Given the description of an element on the screen output the (x, y) to click on. 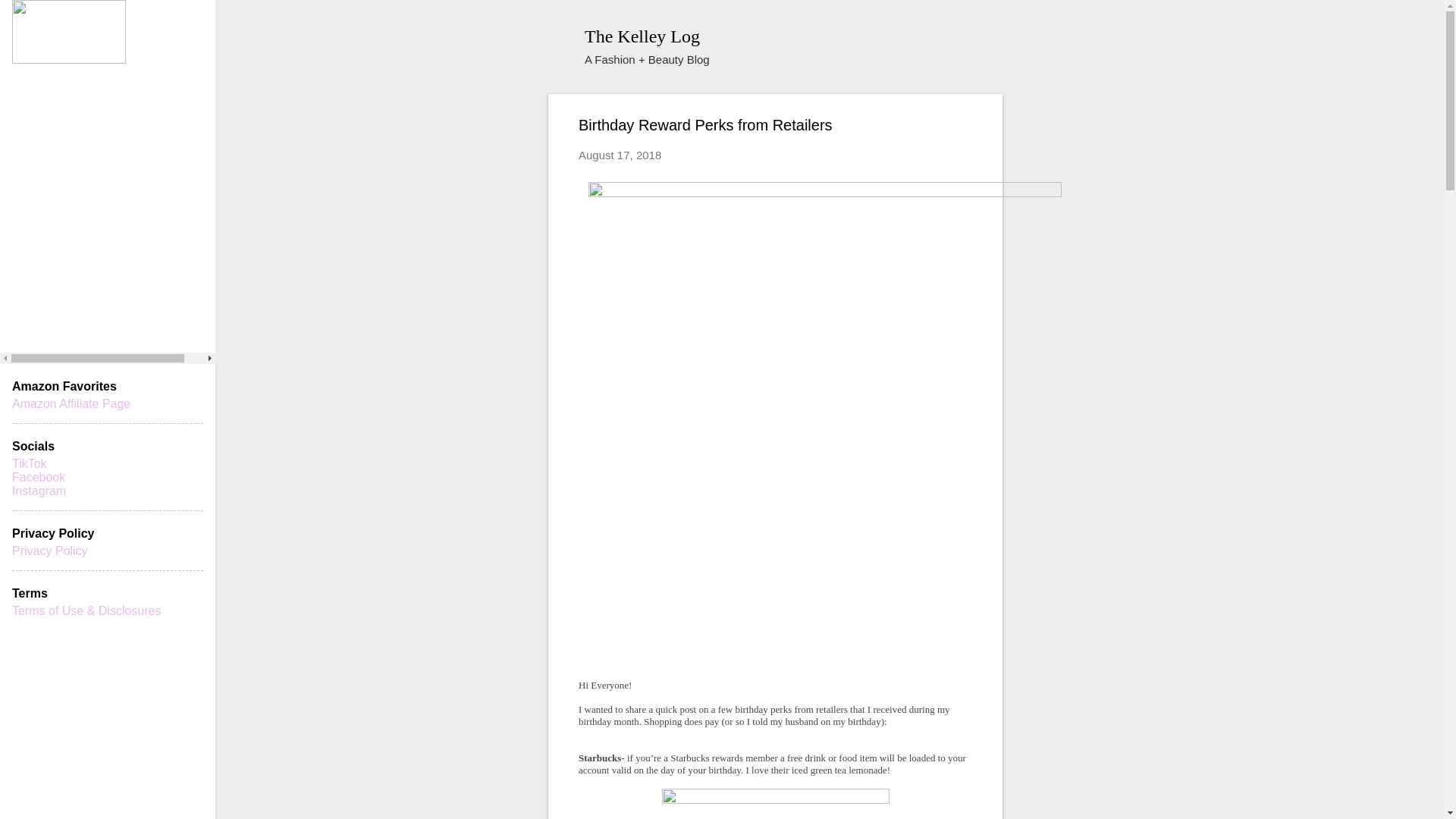
The Kelley Log (642, 35)
Amazon Affiliate Page (71, 403)
permanent link (619, 154)
Privacy Policy (49, 550)
August 17, 2018 (619, 154)
Advertisement (1127, 188)
Facebook (38, 477)
TikTok (28, 463)
Instagram (38, 490)
